Given the description of an element on the screen output the (x, y) to click on. 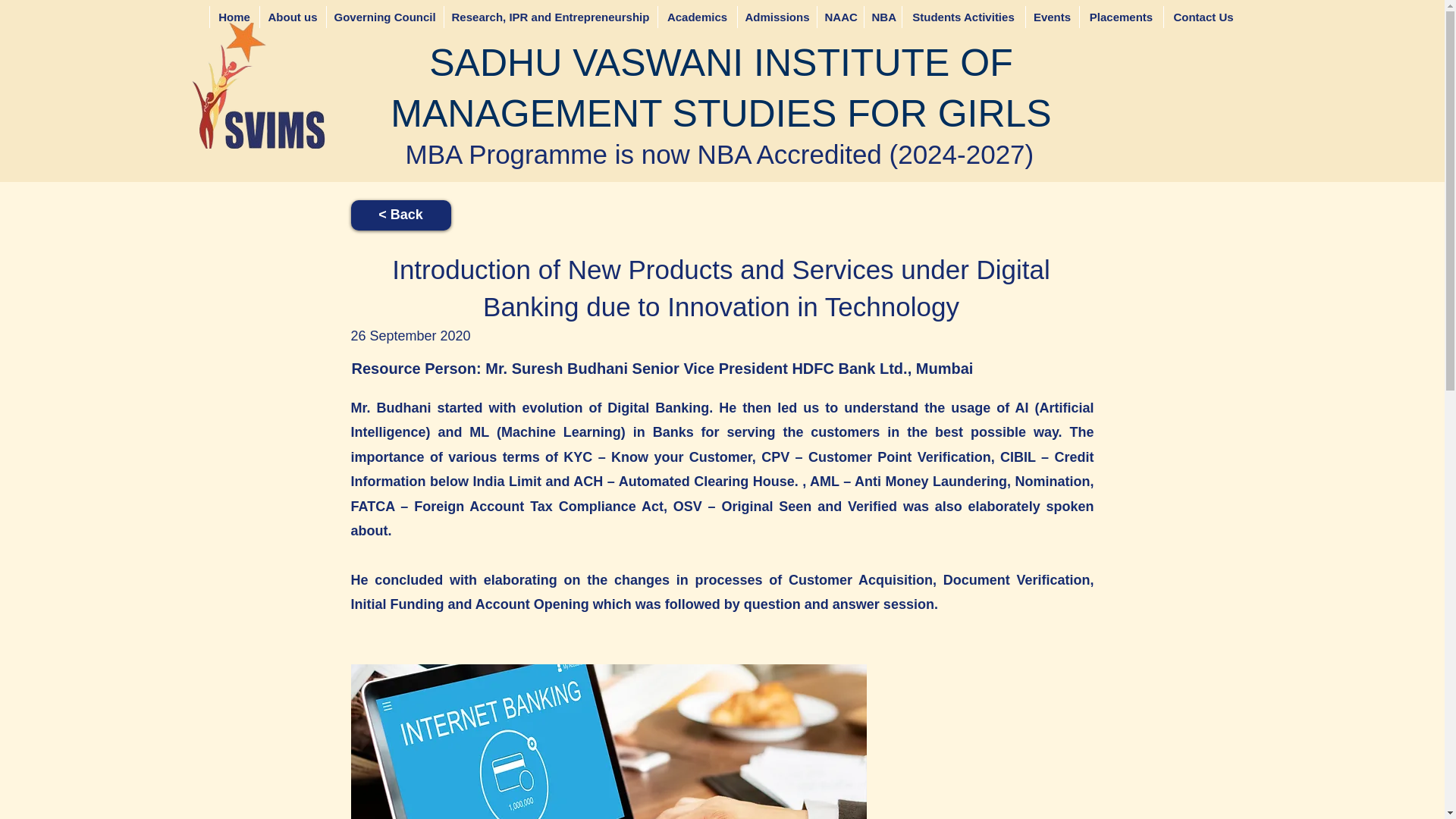
Home (234, 16)
Academics (696, 16)
Admissions (776, 16)
internet-banking-online-payment-technology-concept.jpg (608, 741)
Governing Council (385, 16)
NBA (882, 16)
NAAC (839, 16)
